Given the description of an element on the screen output the (x, y) to click on. 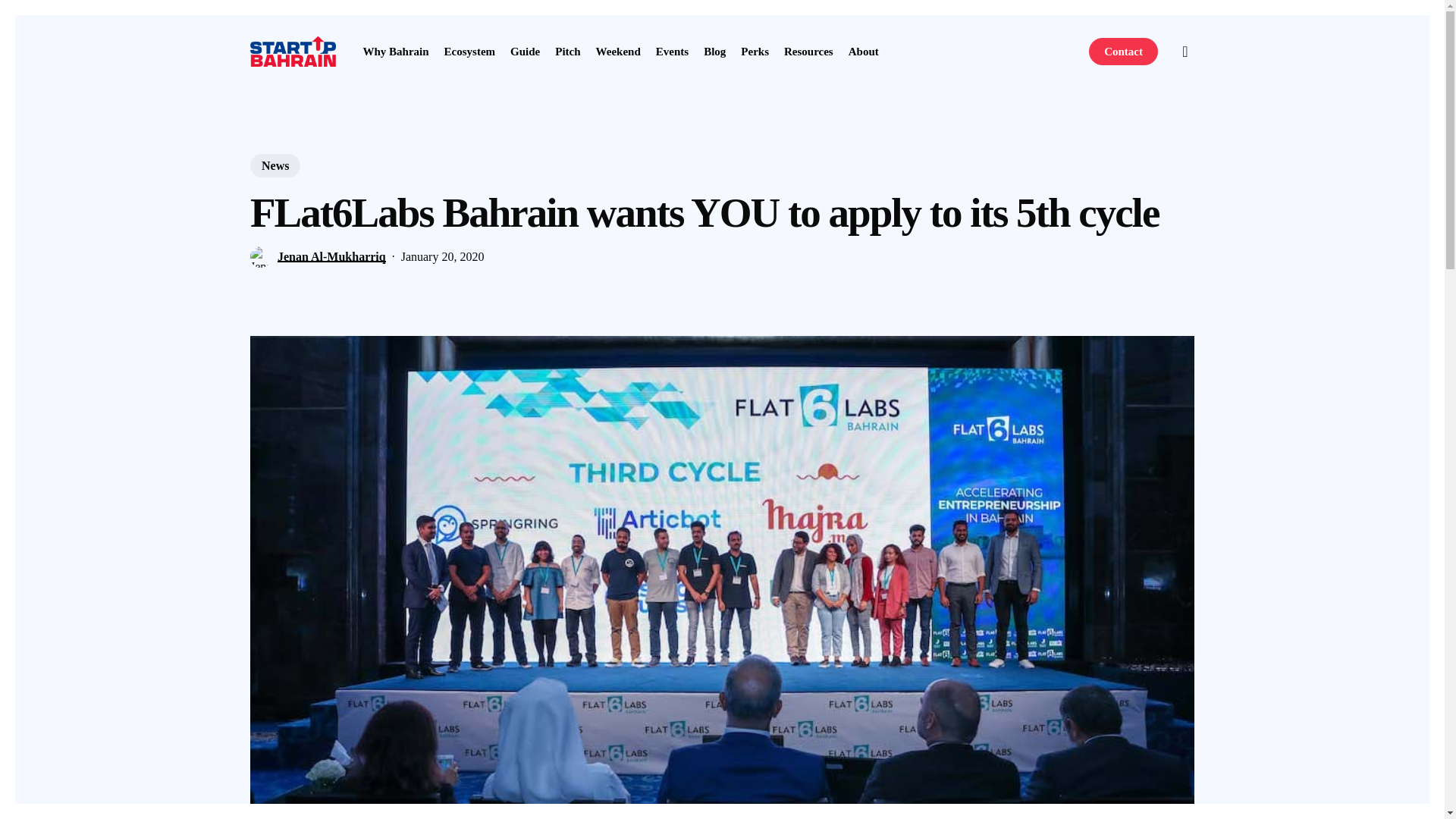
Resources (808, 50)
search (1184, 51)
Weekend (617, 50)
Ecosystem (469, 50)
Jenan Al-Mukharriq (331, 256)
Why Bahrain (395, 50)
Contact (1123, 50)
Blog (714, 50)
Perks (754, 50)
News (274, 165)
